Given the description of an element on the screen output the (x, y) to click on. 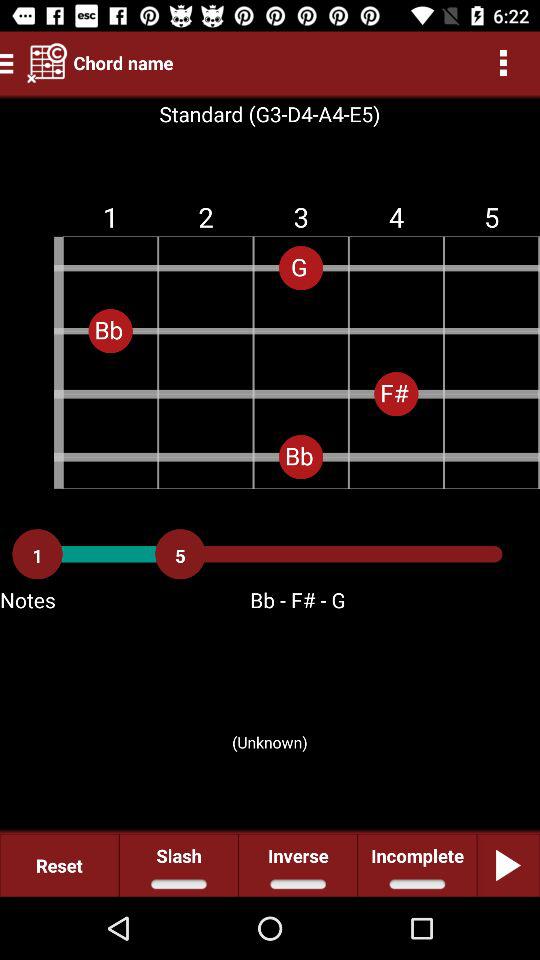
press the item next to the inverse (416, 864)
